Given the description of an element on the screen output the (x, y) to click on. 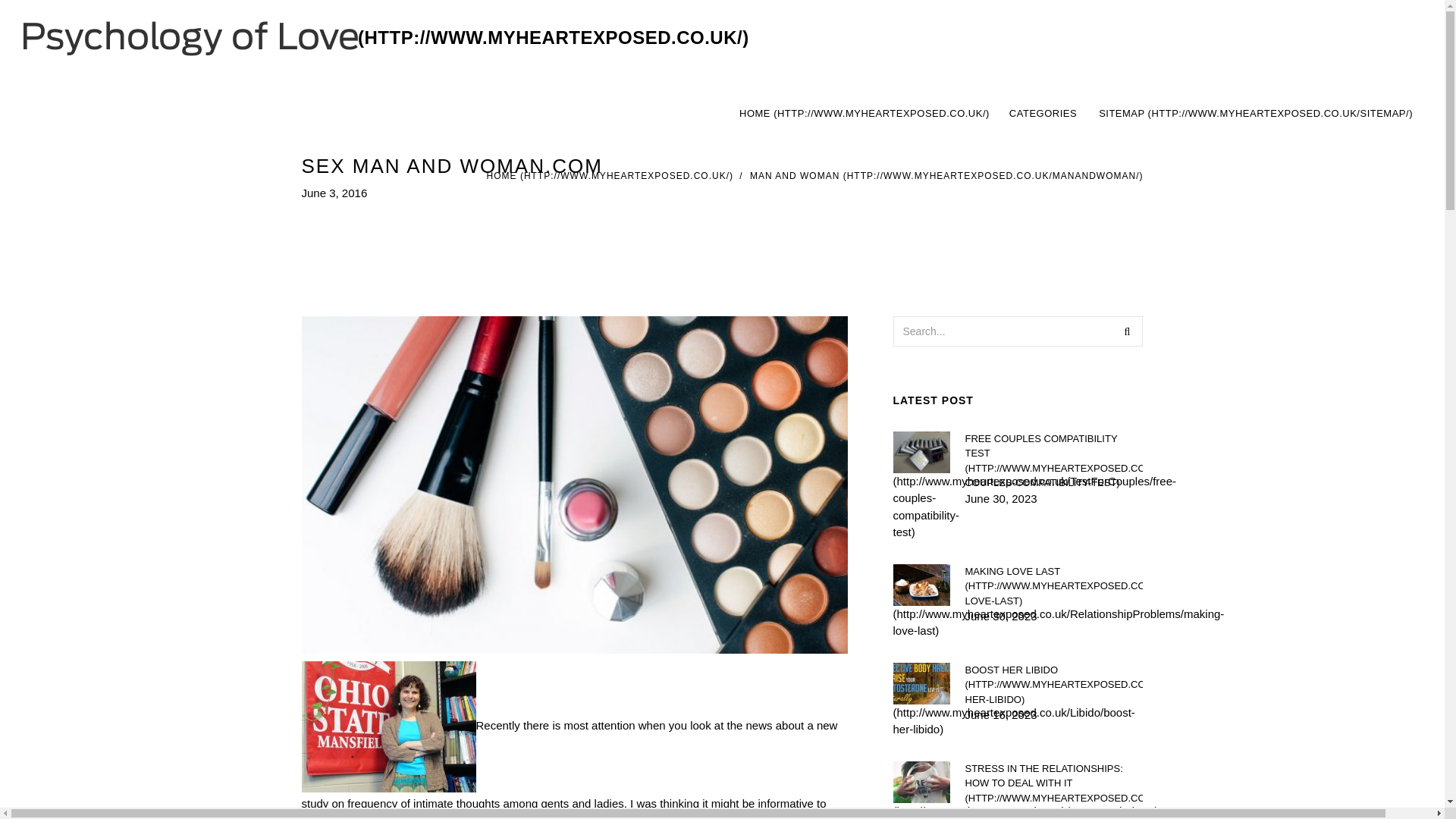
Psychology of Love (386, 38)
BOOST HER LIBIDO (1052, 684)
MAN AND WOMAN (1075, 113)
FREE COUPLES COMPATIBILITY TEST (945, 175)
HOME (1052, 459)
MAKING LOVE LAST (864, 113)
SITEMAP (1052, 586)
CATEGORIES (1255, 113)
Search (1043, 113)
STRESS IN THE RELATIONSHIPS: HOW TO DEAL WITH IT (1126, 330)
HOME (1052, 790)
